Given the description of an element on the screen output the (x, y) to click on. 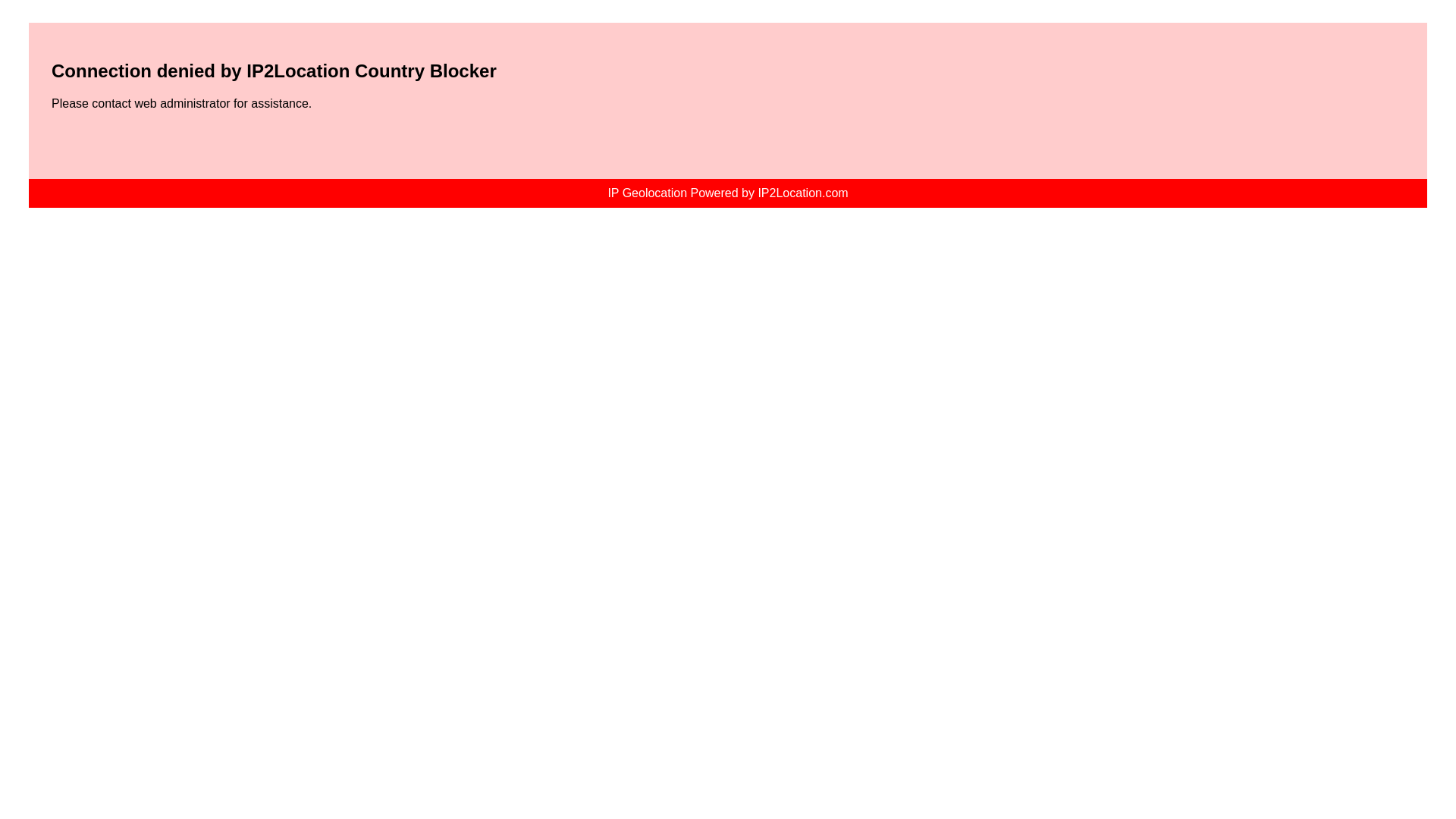
IP Geolocation Powered by IP2Location.com (727, 192)
